Given the description of an element on the screen output the (x, y) to click on. 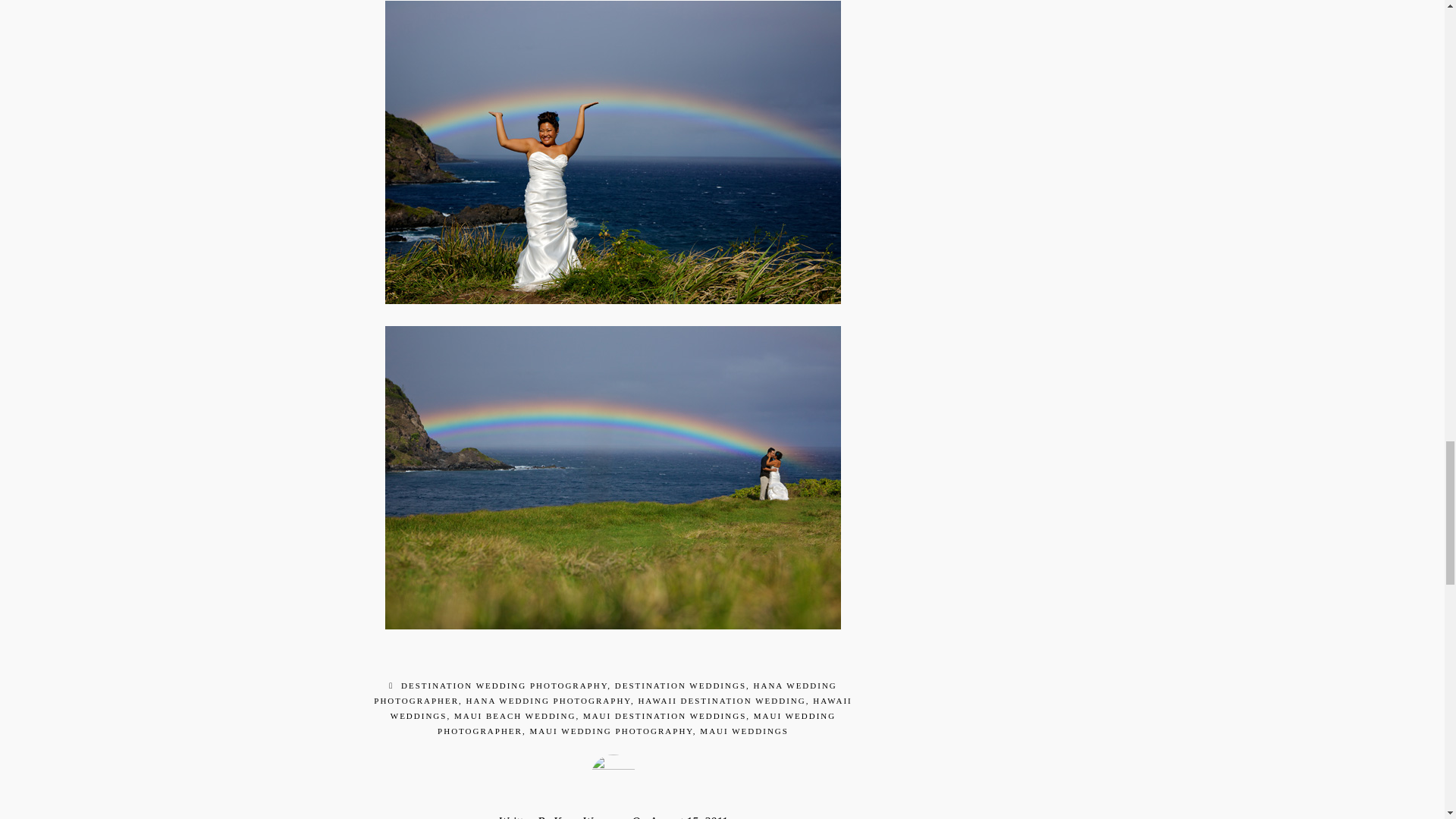
DESTINATION WEDDINGS (679, 685)
MAUI WEDDING PHOTOGRAPHY (611, 730)
MAUI DESTINATION WEDDINGS (664, 715)
DESTINATION WEDDING PHOTOGRAPHY (504, 685)
HAWAII DESTINATION WEDDING (721, 700)
MAUI WEDDING PHOTOGRAPHER (636, 723)
HANA WEDDING PHOTOGRAPHY (547, 700)
HANA WEDDING PHOTOGRAPHER (605, 692)
HAWAII WEDDINGS (620, 708)
MAUI WEDDINGS (744, 730)
MAUI BEACH WEDDING (514, 715)
